Given the description of an element on the screen output the (x, y) to click on. 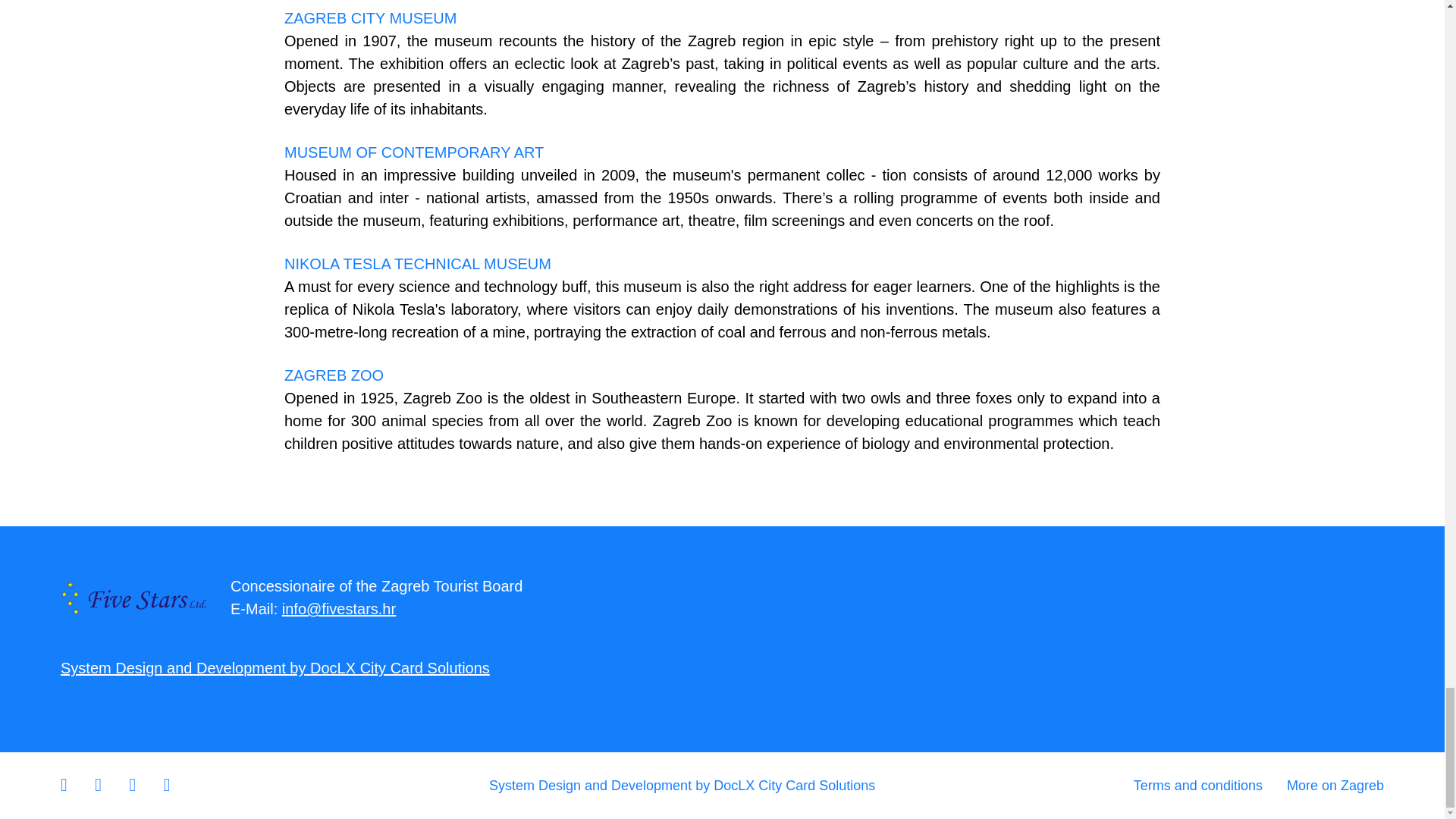
ZAGREB CITY MUSEUM (370, 17)
MUSEUM OF CONTEMPORARY ART (413, 152)
System Design and Development by DocLX City Card Solutions (275, 668)
More on Zagreb (1335, 785)
ZAGREB ZOO (333, 375)
Terms and conditions (1210, 785)
NIKOLA TESLA TECHNICAL MUSEUM (417, 263)
